Given the description of an element on the screen output the (x, y) to click on. 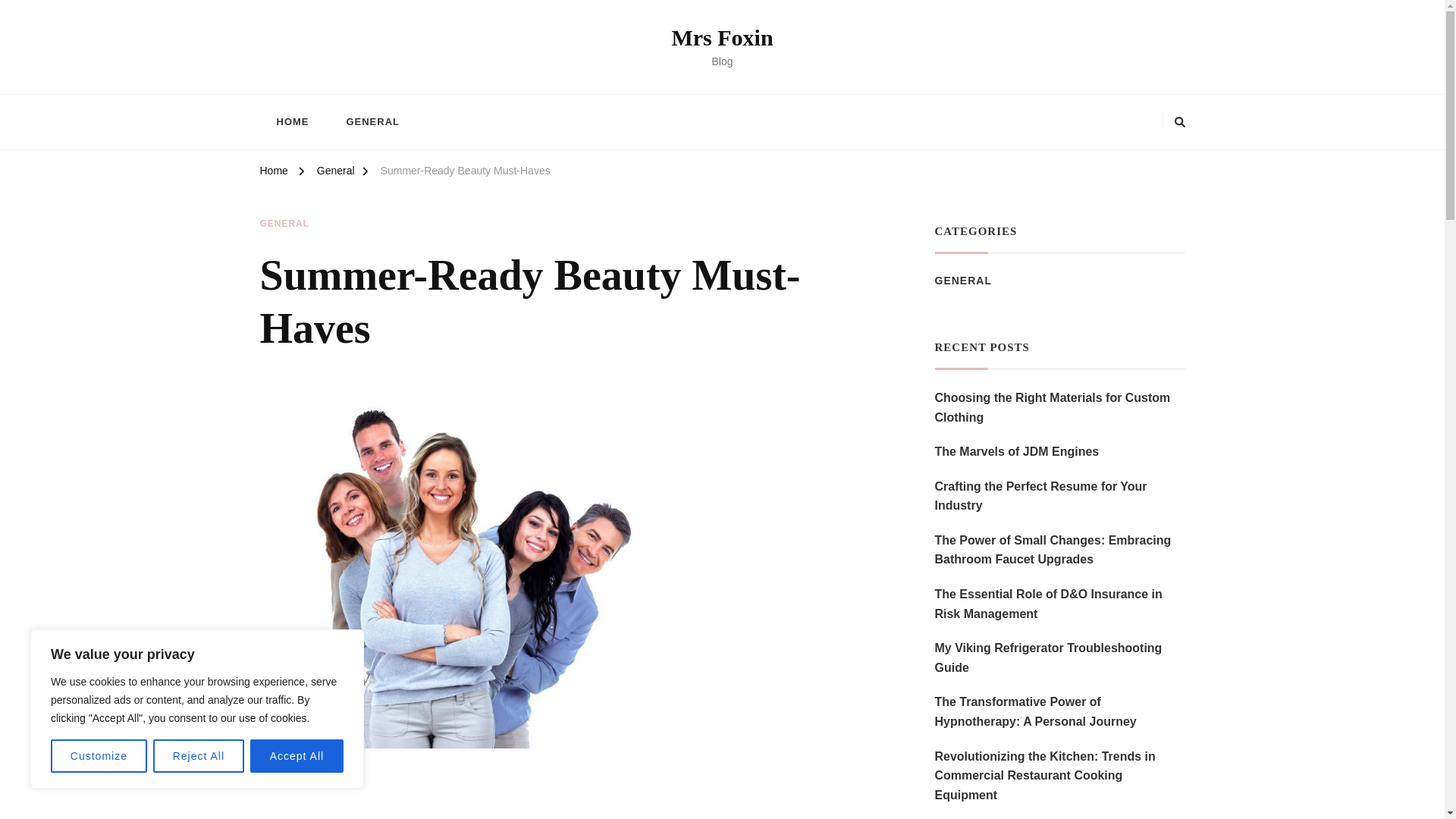
Mrs Foxin (722, 37)
Accept All (296, 756)
GENERAL (371, 121)
Summer-Ready Beauty Must-Haves (465, 172)
General (336, 172)
Customize (98, 756)
Reject All (198, 756)
GENERAL (283, 223)
Home (272, 172)
HOME (291, 121)
